Given the description of an element on the screen output the (x, y) to click on. 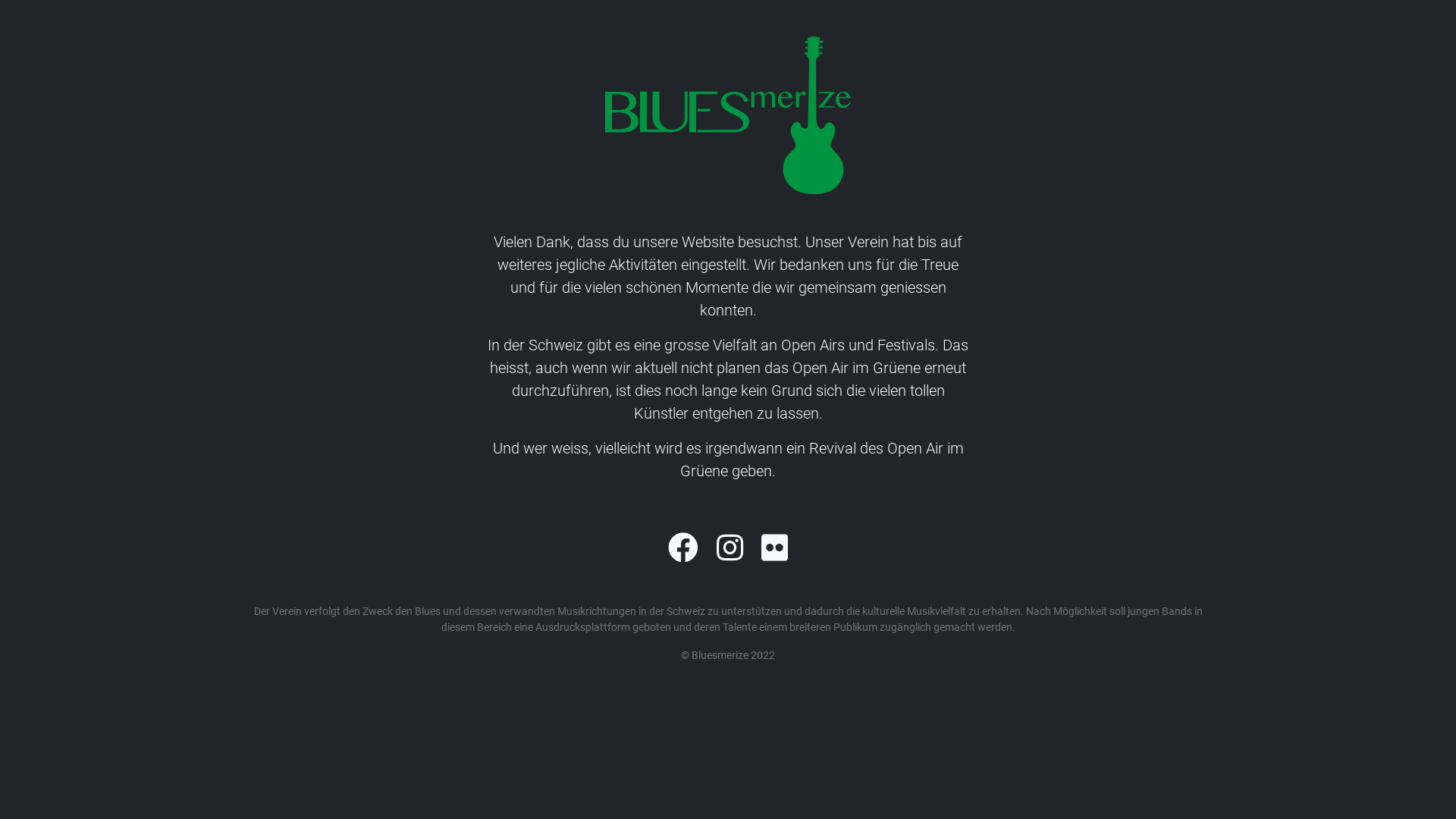
Instagram Element type: text (729, 548)
Facebook Element type: text (683, 548)
Flickr Element type: text (774, 548)
